Given the description of an element on the screen output the (x, y) to click on. 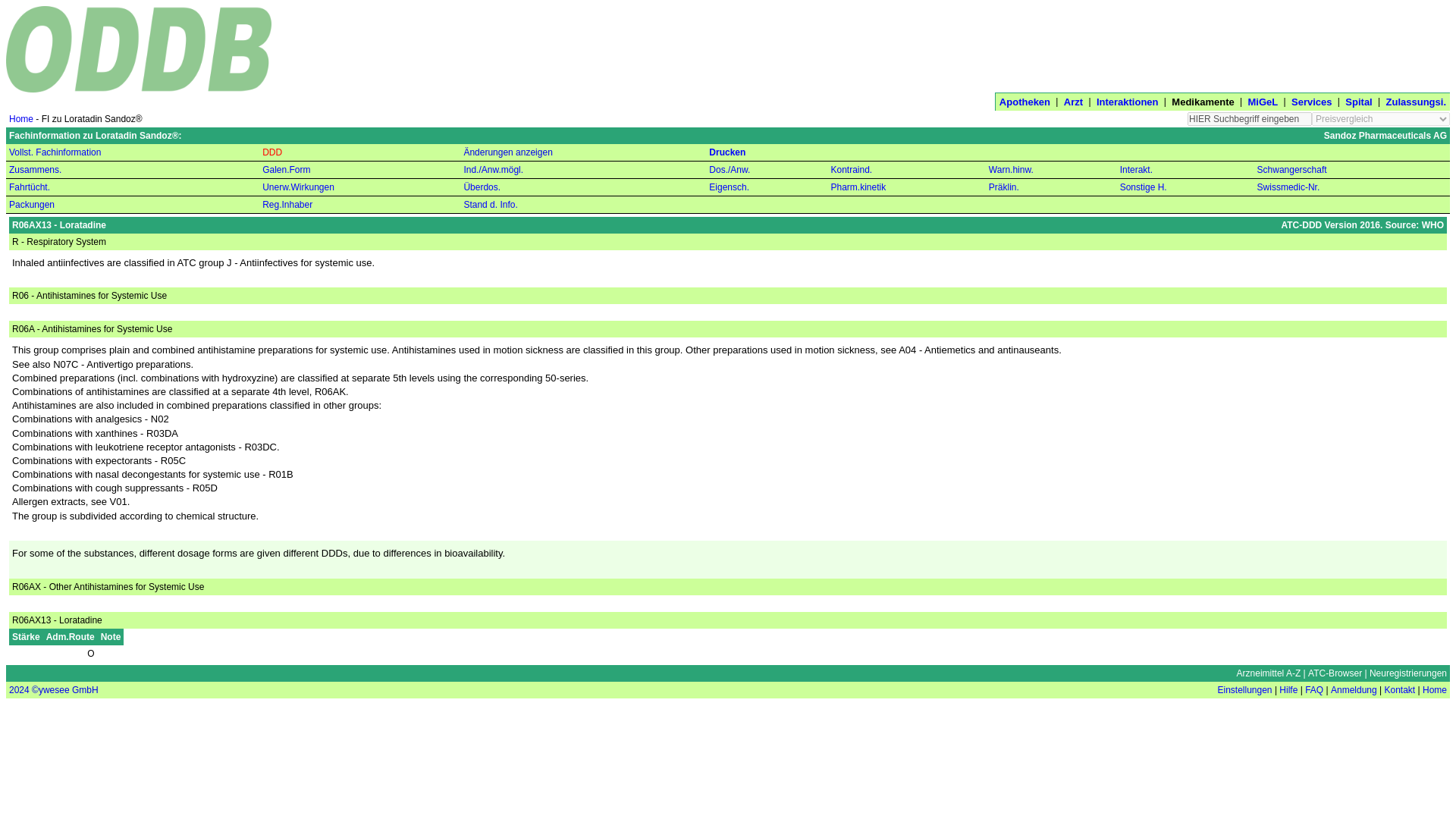
Pharm.kinetik (857, 186)
WHO-DDD (272, 152)
Interakt. (1136, 169)
Spital (1358, 101)
Galen.Form (286, 169)
Unerw.Wirkungen (298, 186)
Arzt (1073, 101)
Schwangerschaft (1291, 169)
HIER Suchbegriff eingeben (1249, 119)
Pharmakokinetik (857, 186)
Drucken (727, 152)
Eigensch. (729, 186)
Druckfreundliche Version (727, 152)
Medikamente (1202, 101)
Packungen (31, 204)
